Given the description of an element on the screen output the (x, y) to click on. 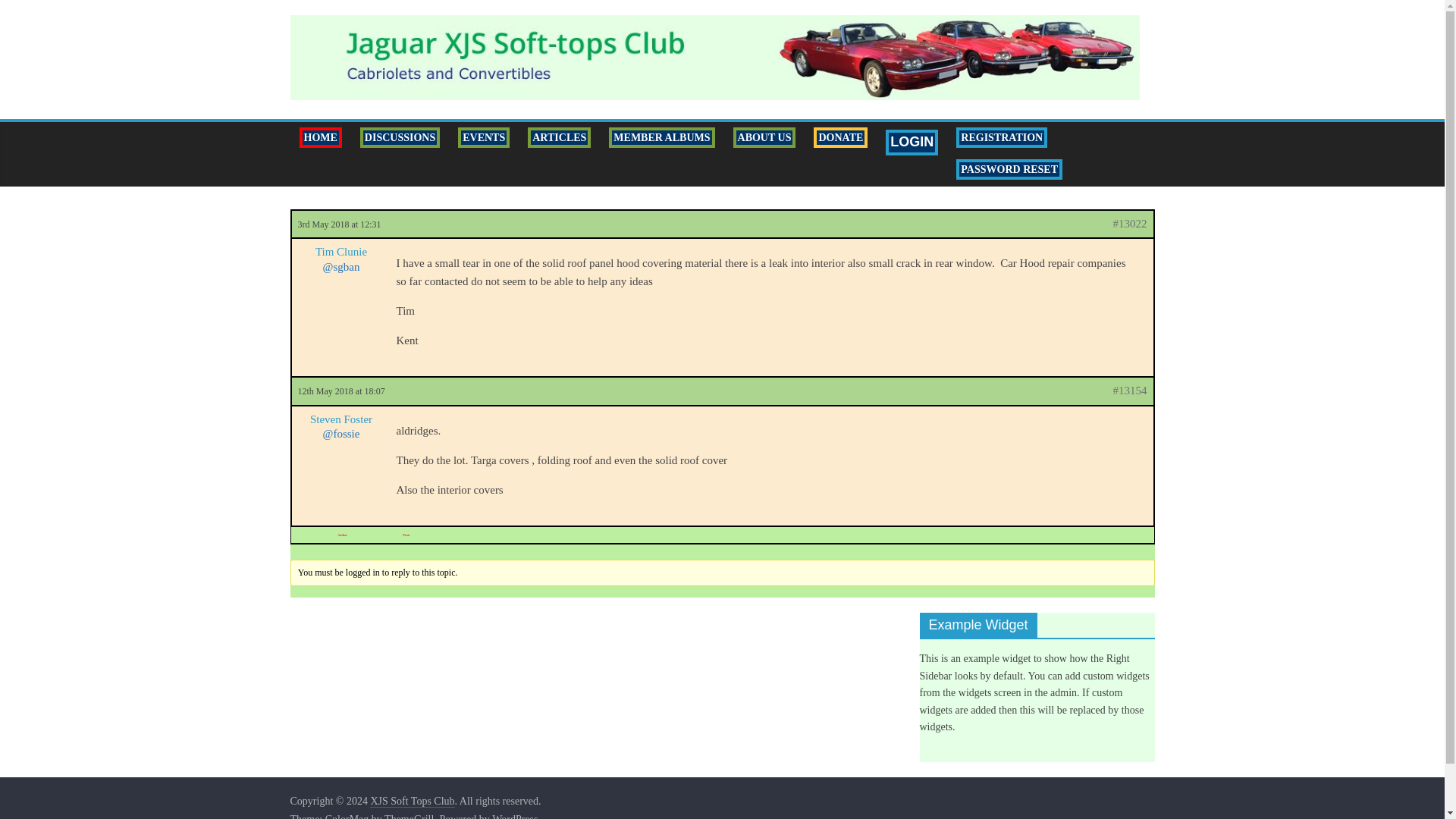
ABOUT US (764, 137)
WordPress (514, 816)
WordPress (514, 816)
View Tim Clunie's profile (340, 252)
REGISTRATION (1002, 137)
XJS Soft Tops Club (411, 801)
HOME (319, 137)
DISCUSSIONS (399, 137)
DONATE (840, 137)
Steven Foster (340, 419)
MEMBER ALBUMS (661, 137)
EVENTS (483, 137)
ARTICLES (558, 137)
Tim Clunie (340, 252)
LOGIN (911, 142)
